Given the description of an element on the screen output the (x, y) to click on. 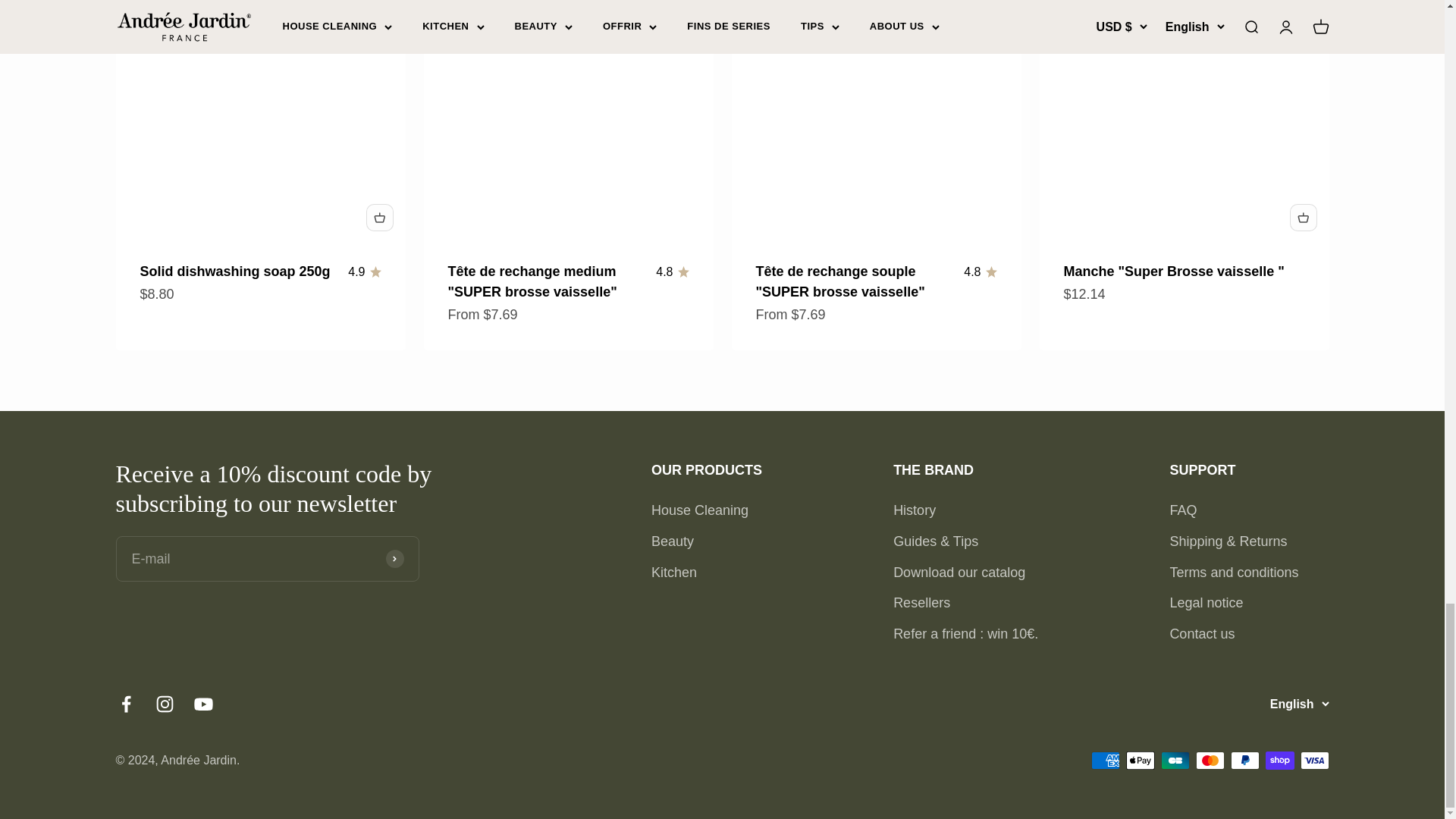
24 reviews (979, 271)
69 reviews (363, 271)
24 reviews (672, 271)
